Given the description of an element on the screen output the (x, y) to click on. 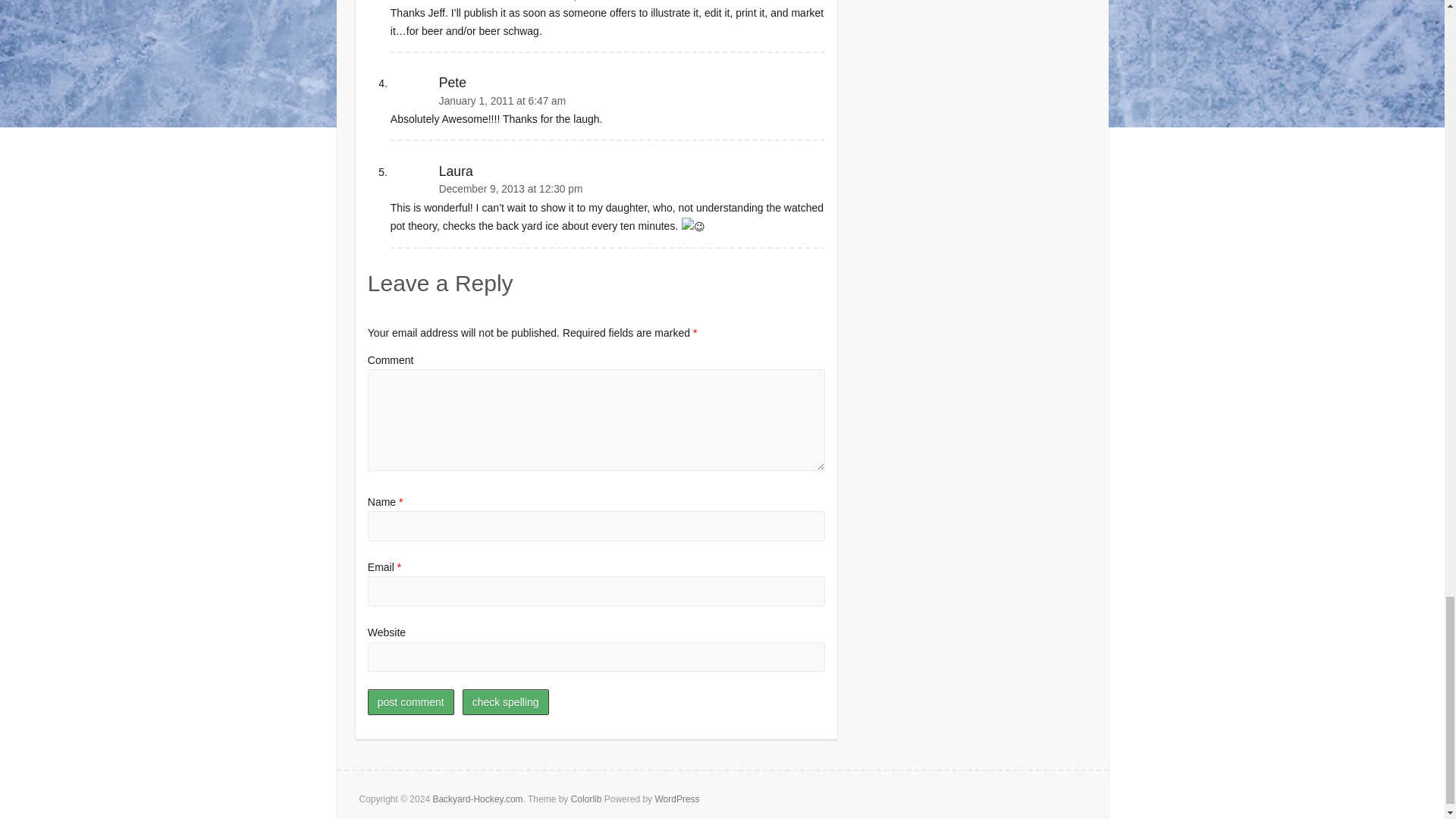
Colorlib (586, 798)
WordPress (675, 798)
Check spelling (505, 701)
Backyard-Hockey.com (477, 798)
Post Comment (411, 701)
Check Spelling (505, 701)
